Given the description of an element on the screen output the (x, y) to click on. 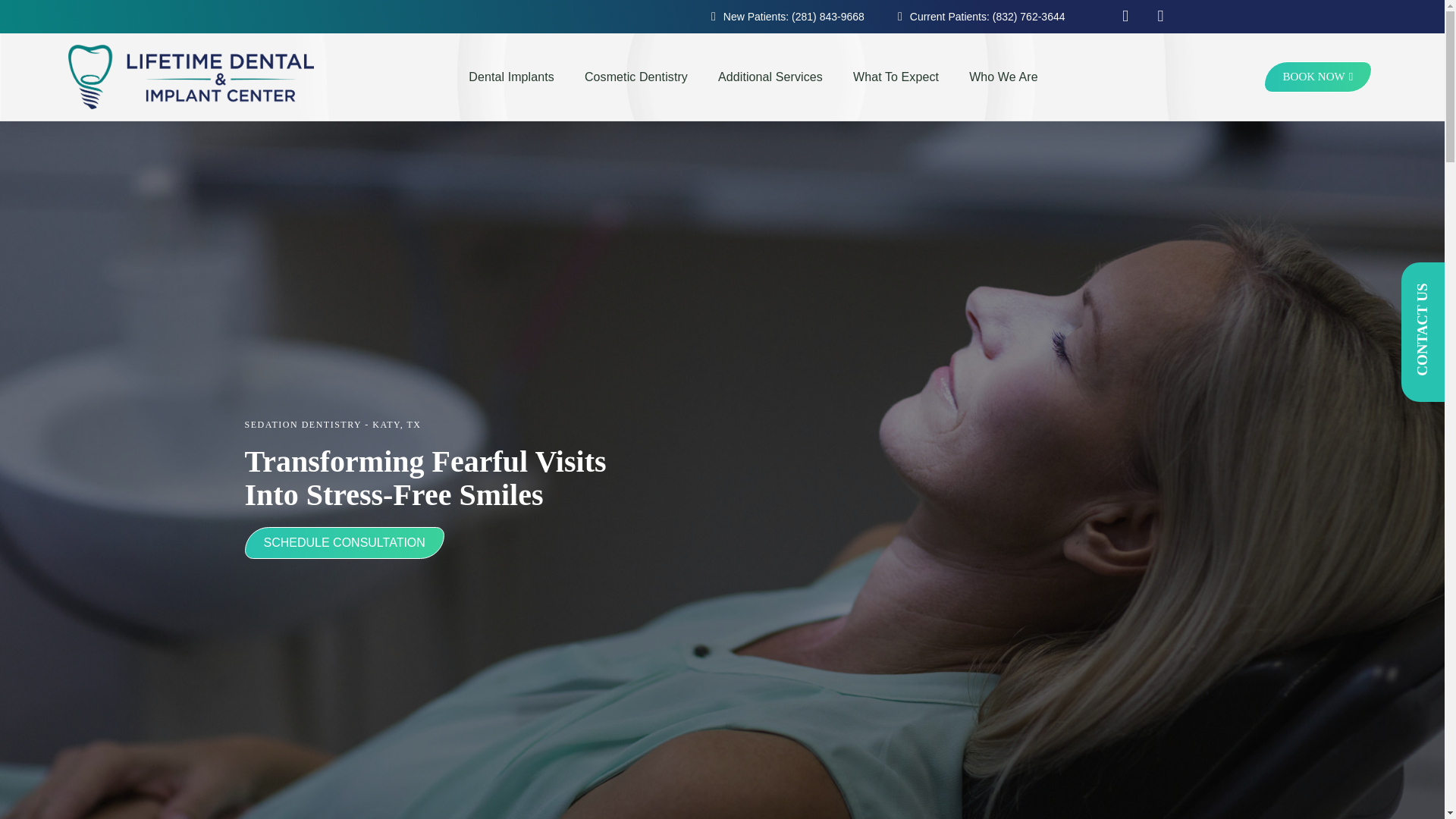
Who We Are (1003, 77)
Dental Implants (511, 77)
Cosmetic Dentistry (636, 77)
What To Expect (896, 77)
Additional Services (769, 77)
